Given the description of an element on the screen output the (x, y) to click on. 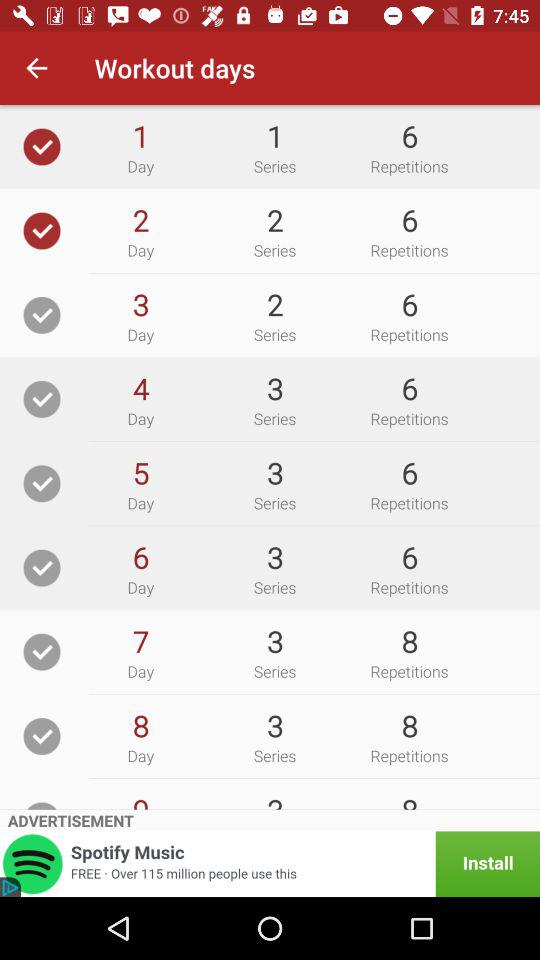
select a day (41, 736)
